Given the description of an element on the screen output the (x, y) to click on. 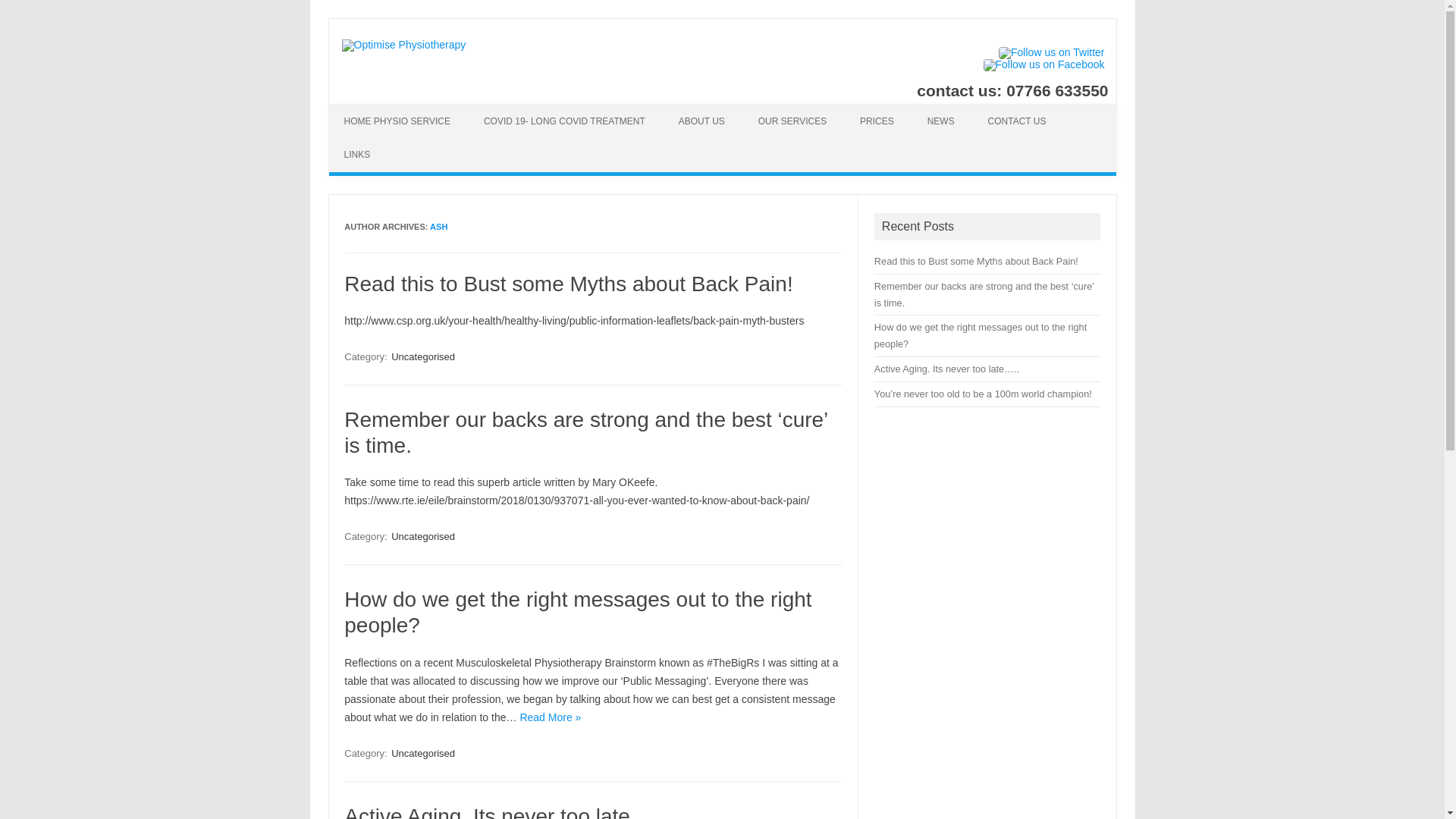
PRICES (876, 121)
Skip to content (363, 109)
How do we get the right messages out to the right people? (576, 612)
Uncategorised (423, 753)
Skip to content (363, 109)
Optimise Physiotherapy (402, 44)
LINKS (357, 154)
OUR SERVICES (791, 121)
Permalink to Read this to Bust some Myths about Back Pain! (567, 283)
COVID 19- LONG COVID TREATMENT (564, 121)
NEWS (940, 121)
ASH (437, 225)
HOME PHYSIO SERVICE (397, 121)
Read this to Bust some Myths about Back Pain! (567, 283)
